Given the description of an element on the screen output the (x, y) to click on. 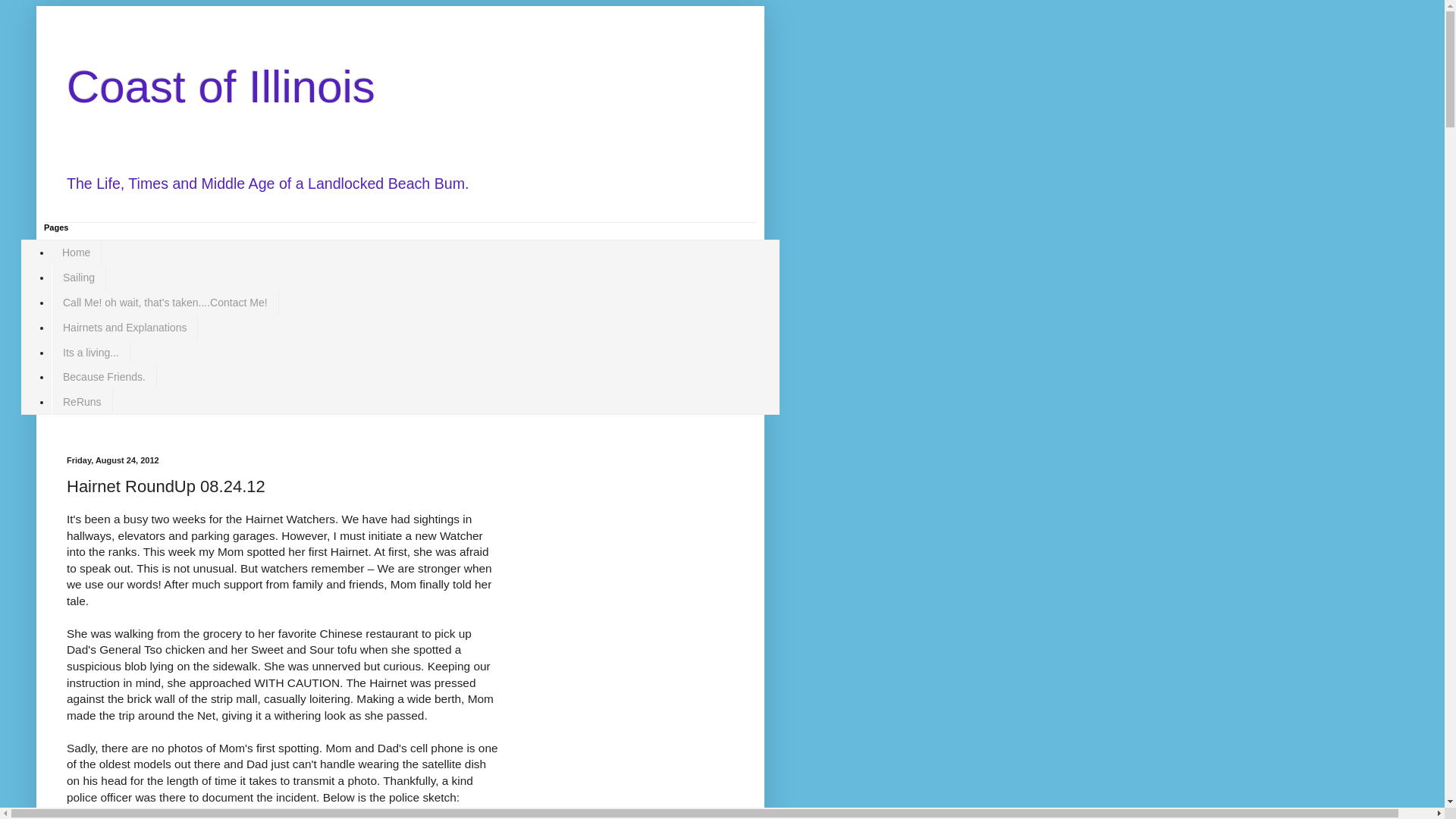
Its a living... (90, 351)
ReRuns (81, 401)
Coast of Illinois (220, 86)
Hairnets and Explanations (124, 326)
Sailing (78, 277)
Home (75, 252)
Because Friends. (103, 376)
Call Me! oh wait, that's taken....Contact Me! (164, 302)
